Given the description of an element on the screen output the (x, y) to click on. 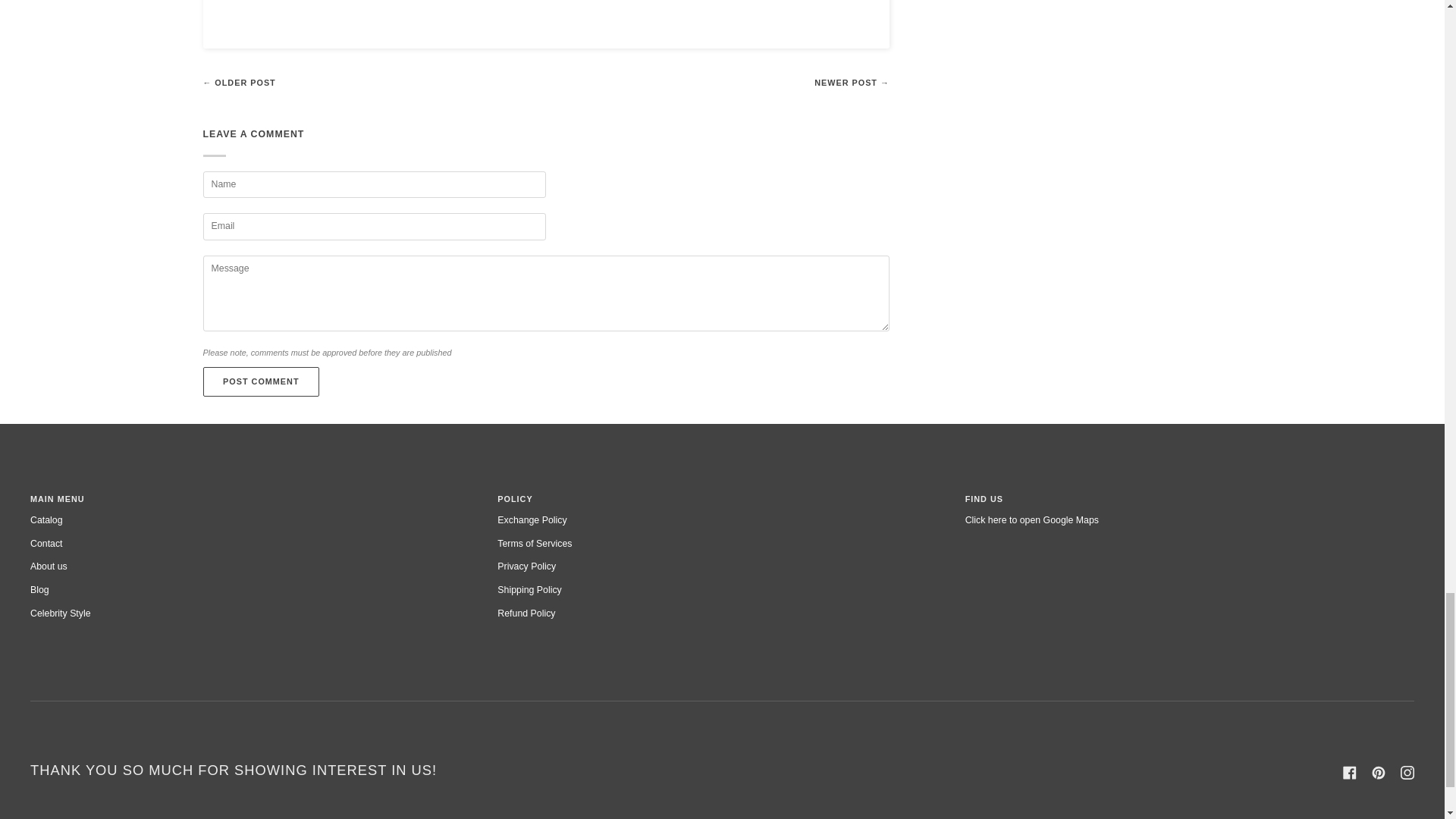
Instagram (1406, 772)
Facebook (1349, 772)
Pinterest (1378, 772)
